Given the description of an element on the screen output the (x, y) to click on. 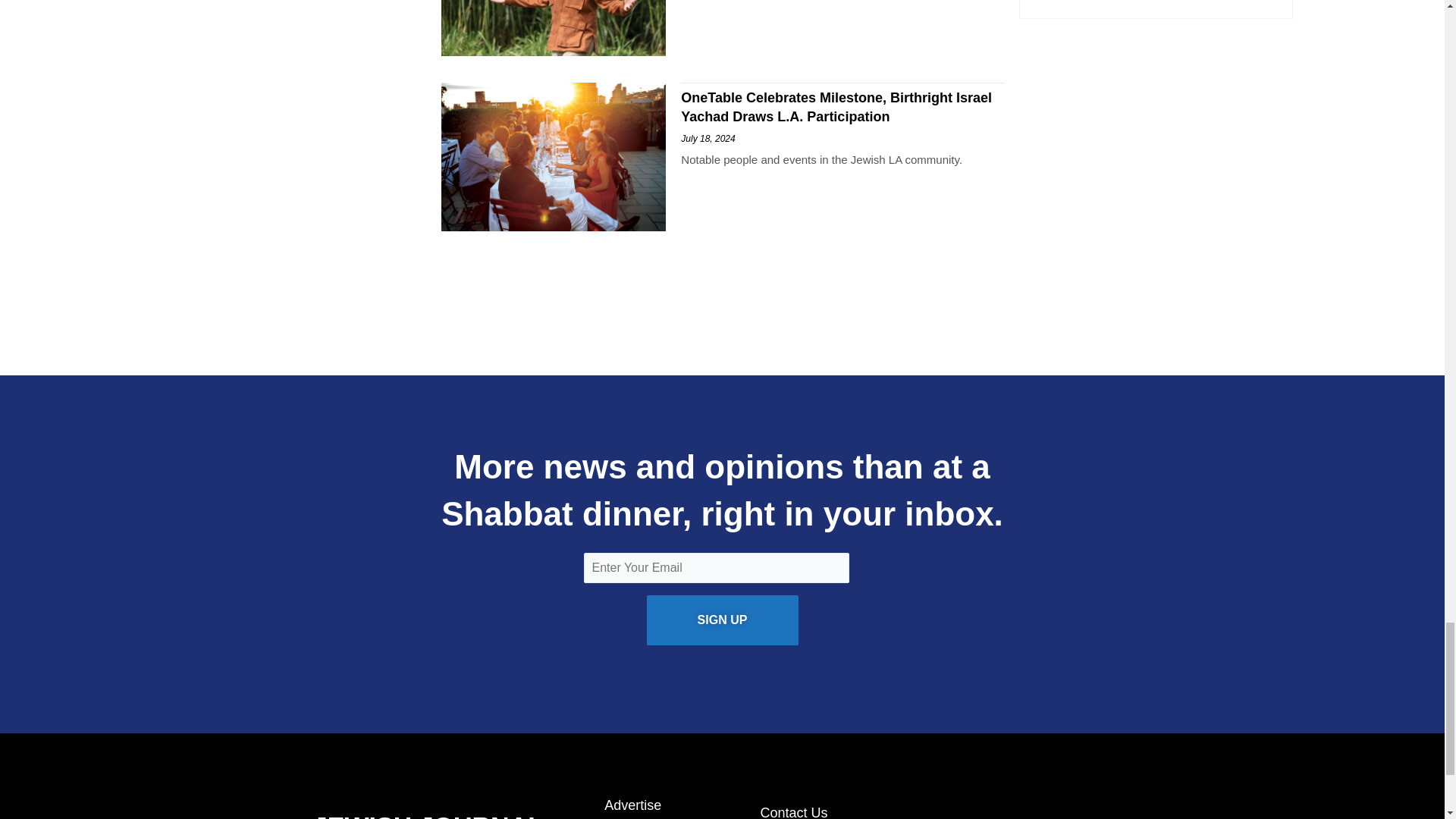
Sign Up (721, 620)
3rd party ad content (721, 291)
